Given the description of an element on the screen output the (x, y) to click on. 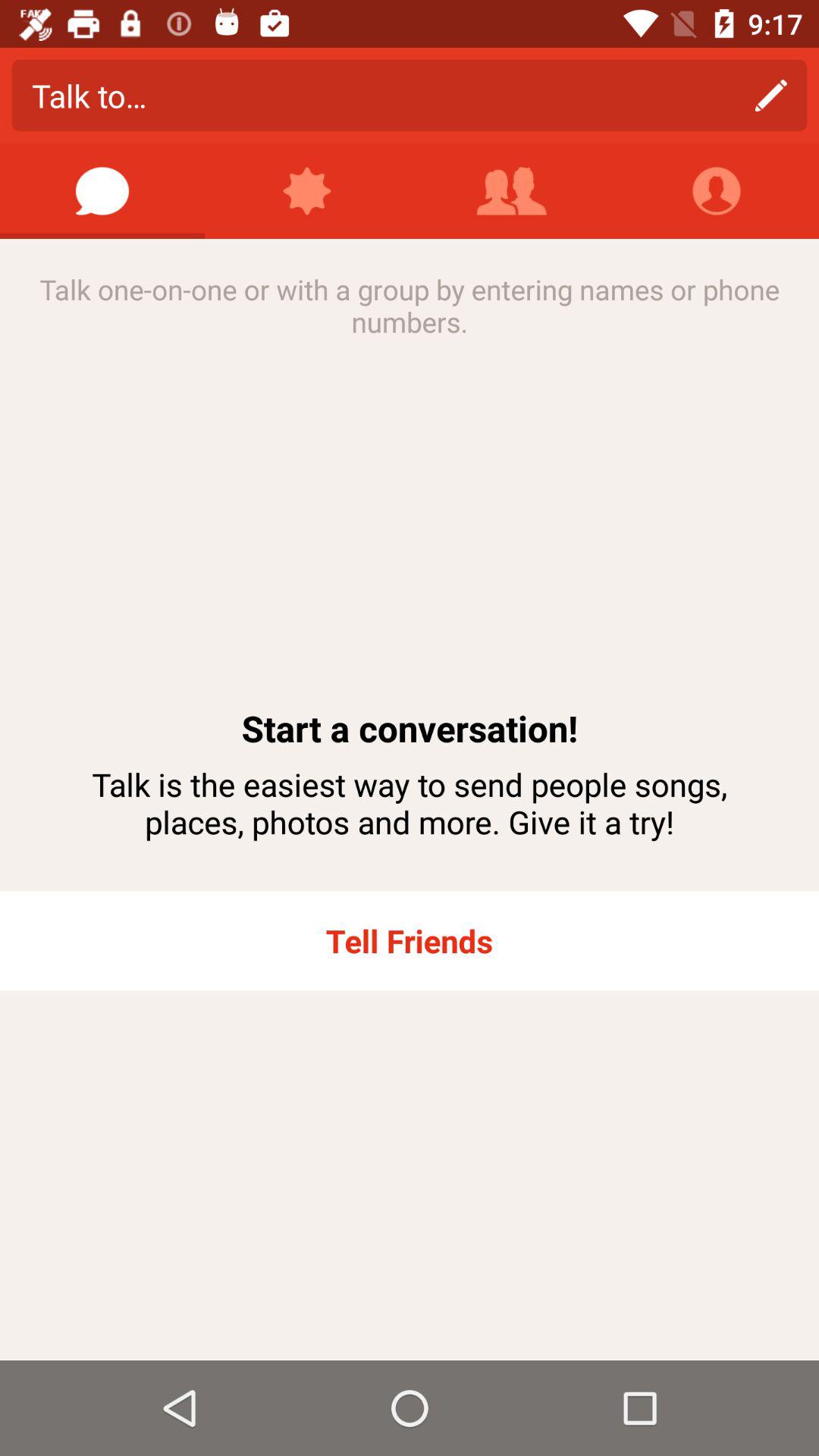
tap the icon at the top left corner (102, 190)
